Given the description of an element on the screen output the (x, y) to click on. 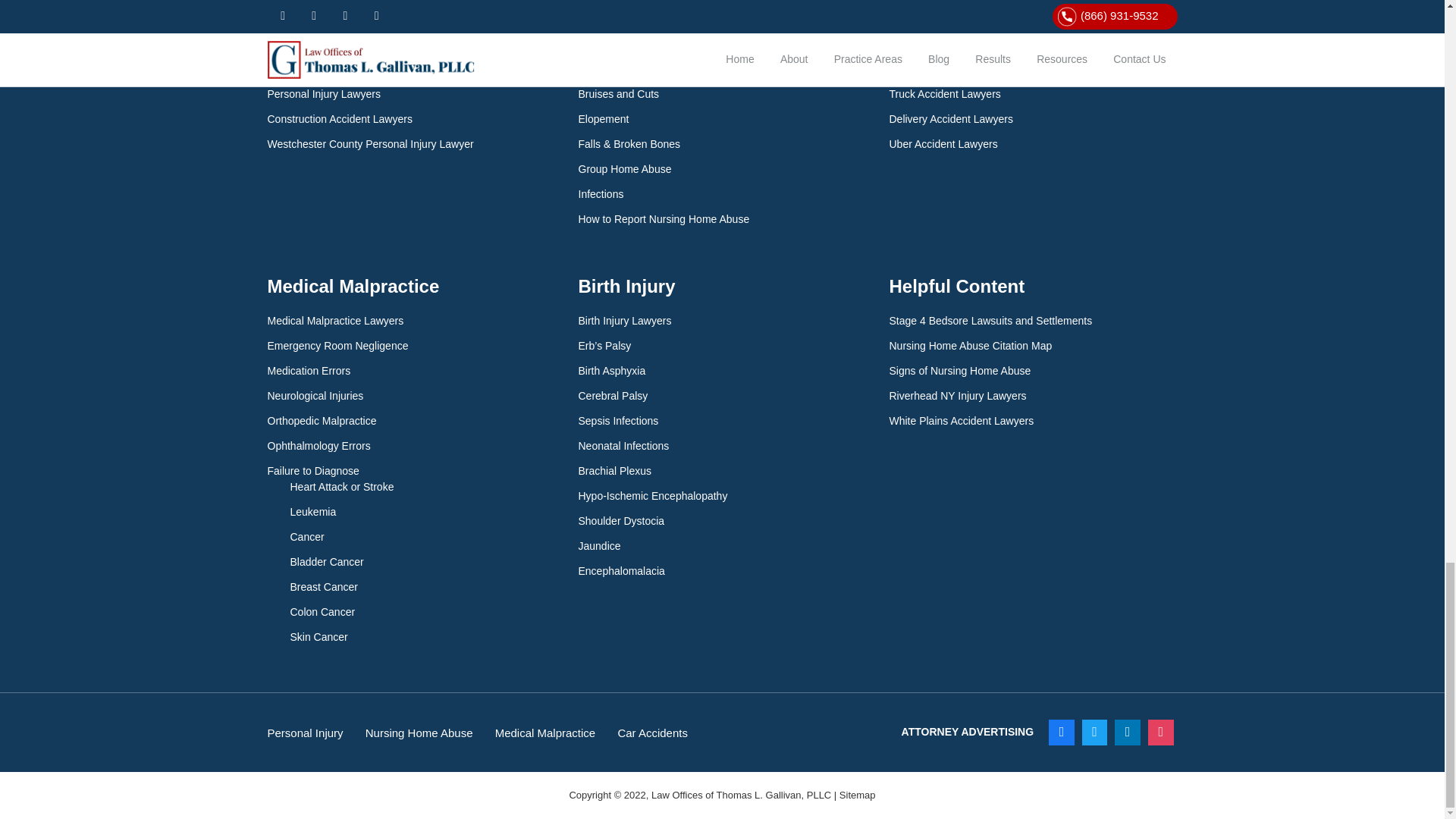
Twitter (1095, 732)
Instagram (1160, 732)
Facebook alt (1061, 732)
Linkedin (1127, 732)
